Given the description of an element on the screen output the (x, y) to click on. 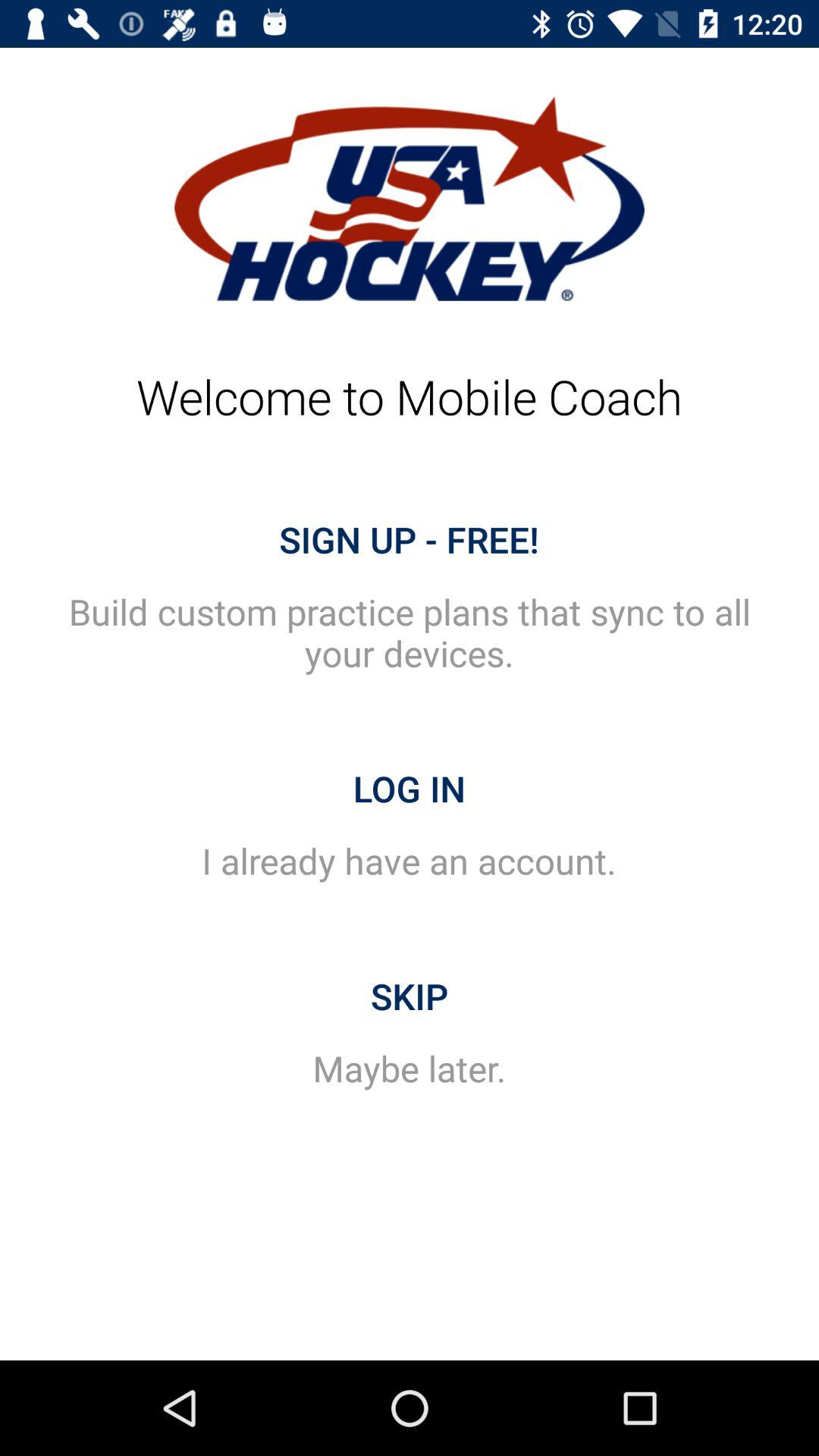
select item below the build custom practice item (409, 788)
